Given the description of an element on the screen output the (x, y) to click on. 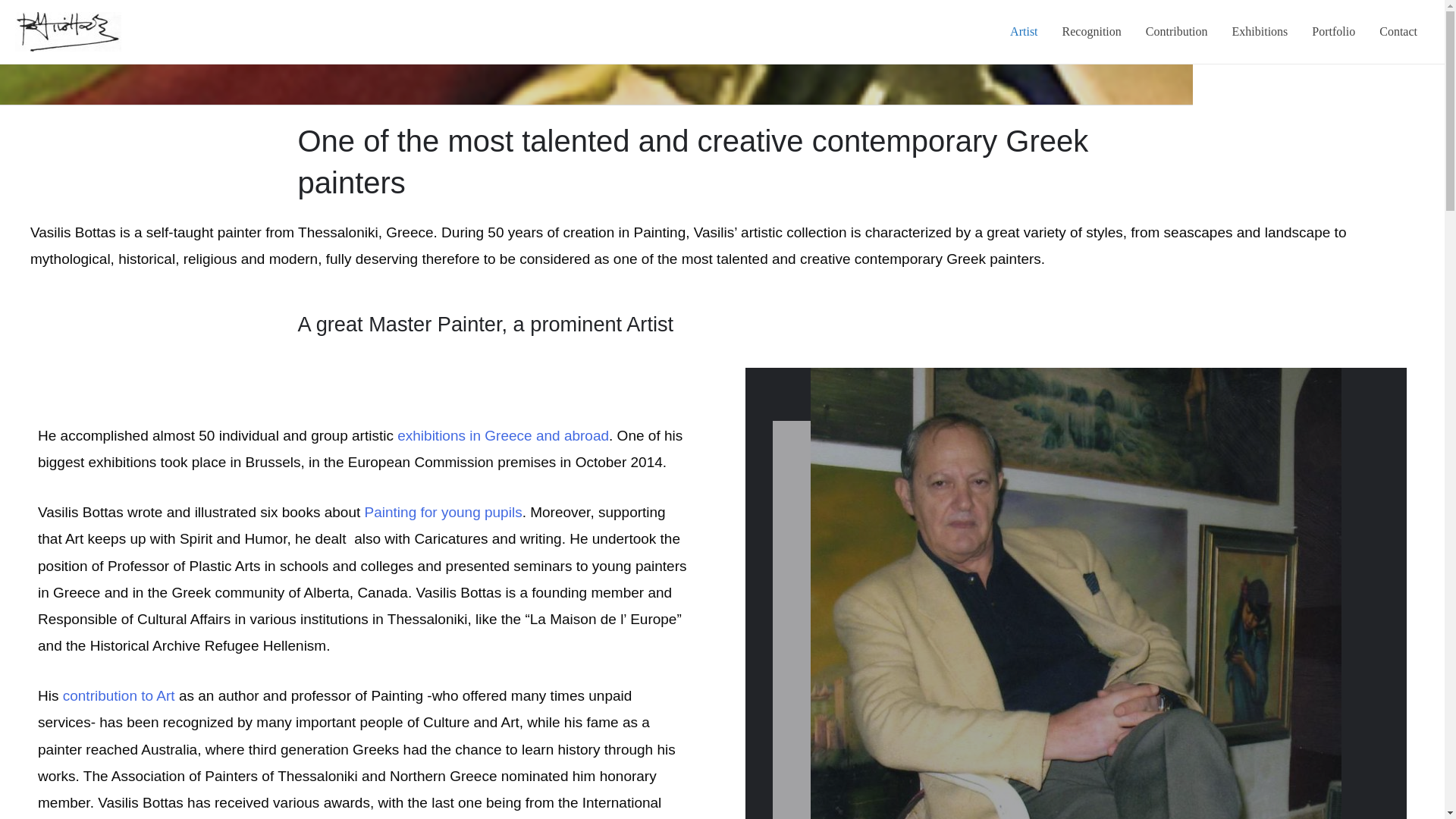
Contact (1398, 31)
Artist (1023, 31)
exhibitions in Greece and abroad (502, 435)
contribution to Art (118, 695)
Portfolio (1333, 31)
Contribution (1177, 31)
Recognition (1091, 31)
Exhibitions (1260, 31)
Painting for young pupils (443, 512)
